Given the description of an element on the screen output the (x, y) to click on. 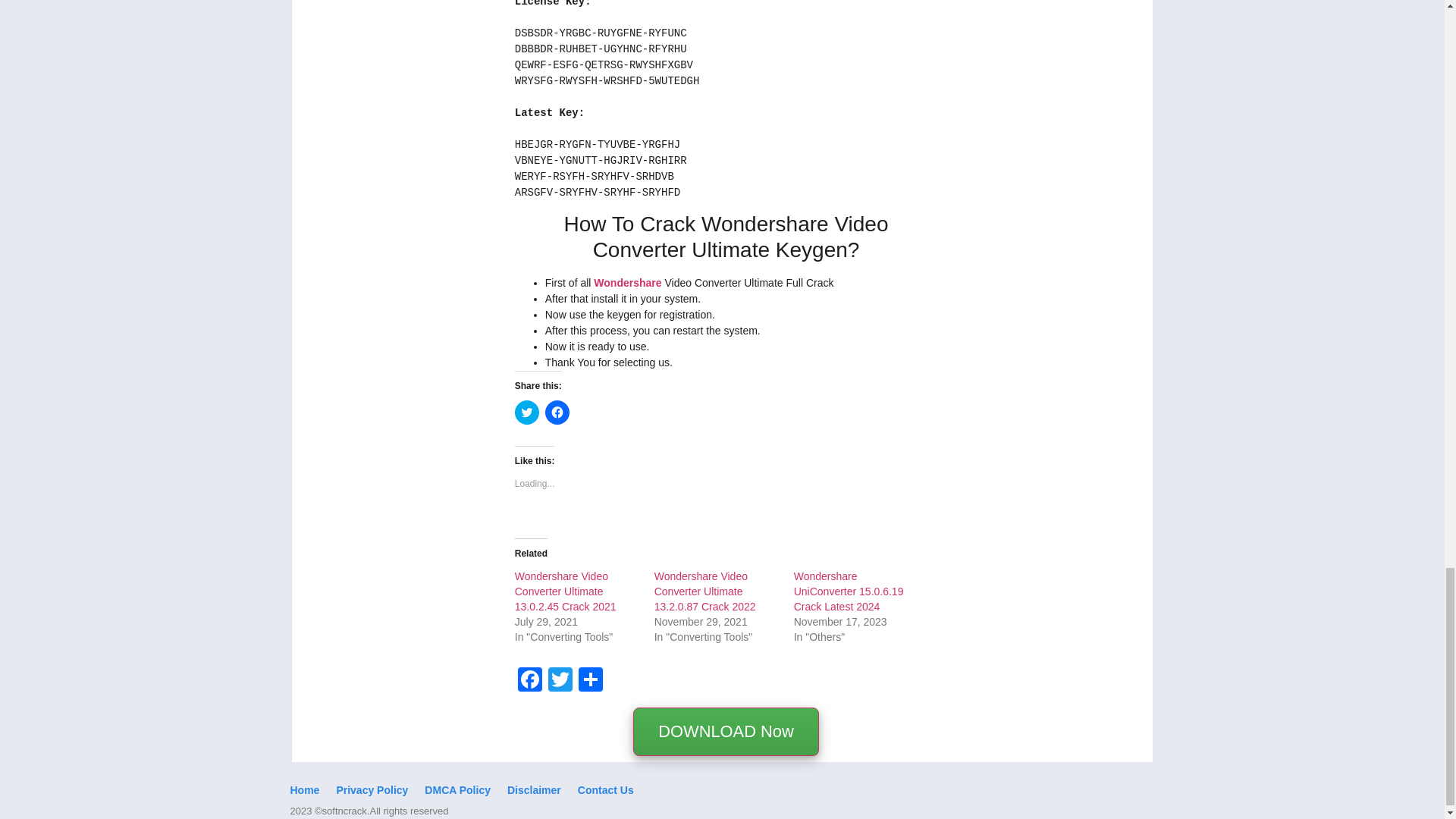
Wondershare UniConverter 15.0.6.19 Crack Latest 2024 (848, 591)
Wondershare Video Converter Ultimate 13.0.2.45 Crack 2021 (565, 591)
Click to share on Twitter (526, 412)
Facebook (529, 681)
Click to share on Facebook (556, 412)
Twitter (559, 681)
Wondershare Video Converter Ultimate 13.2.0.87 Crack 2022 (704, 591)
